Given the description of an element on the screen output the (x, y) to click on. 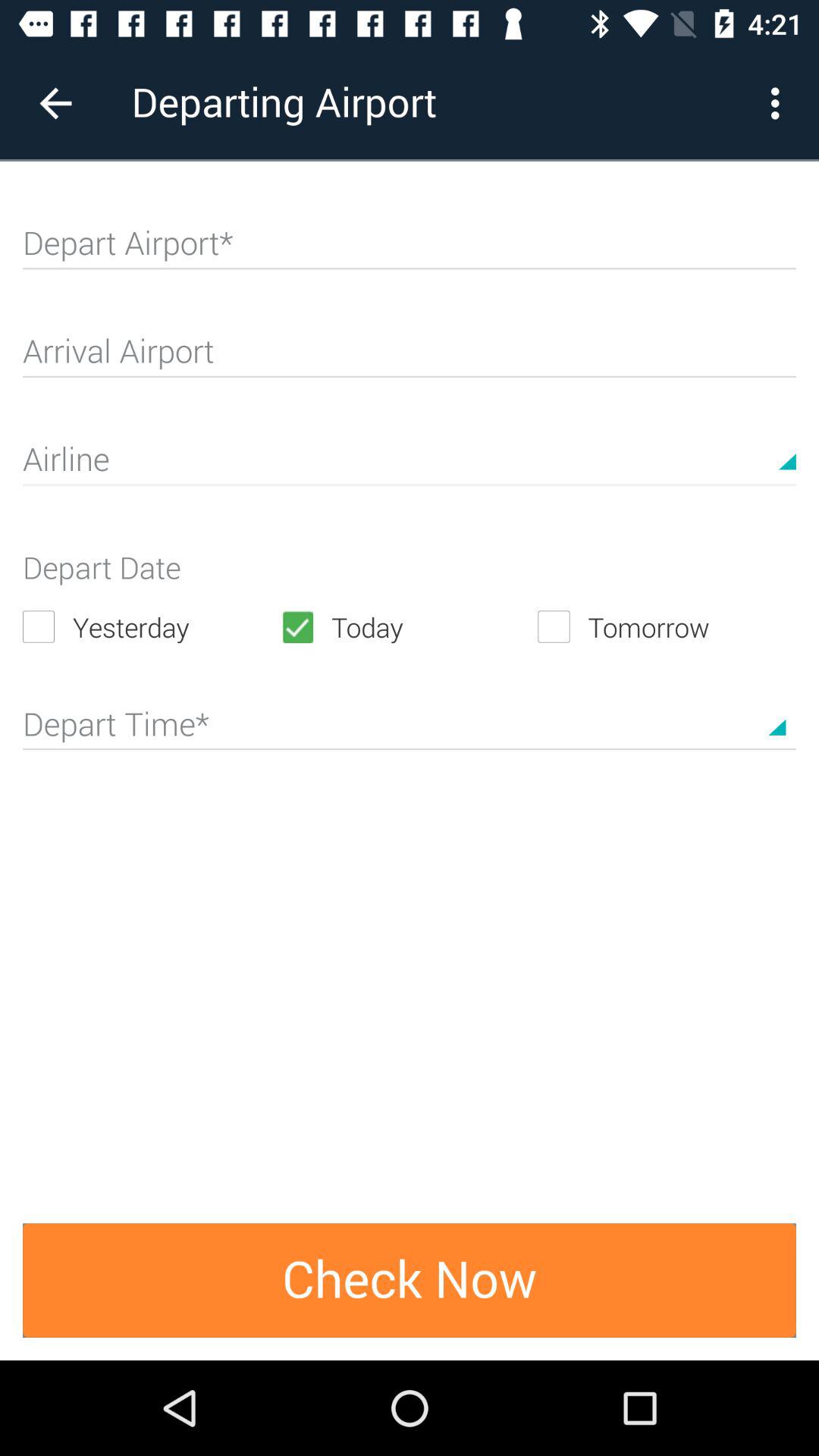
select the item next to the tomorrow (409, 626)
